Given the description of an element on the screen output the (x, y) to click on. 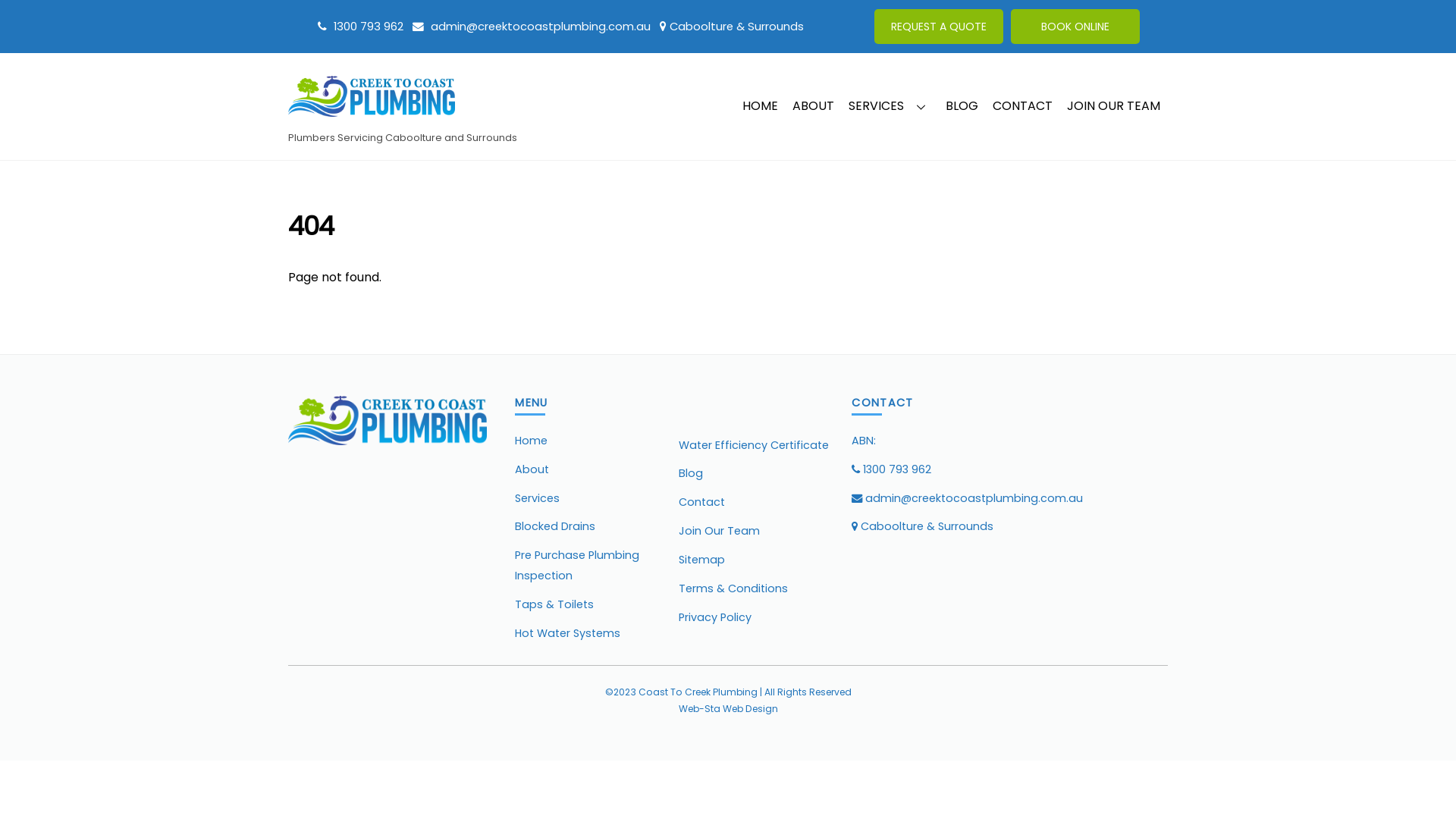
SERVICES Element type: text (889, 106)
admin@creektocoastplumbing.com.au Element type: text (531, 26)
Creek to Coast Plumbing Element type: hover (371, 95)
Blocked Drains Element type: text (554, 525)
Join Our Team Element type: text (718, 530)
Creek to Coast Plumbing Element type: hover (371, 109)
BLOG Element type: text (961, 106)
Creek to Coast Plumbing Element type: hover (387, 420)
Services Element type: text (536, 497)
Privacy Policy Element type: text (714, 616)
REQUEST A QUOTE Element type: text (938, 26)
ABOUT Element type: text (813, 106)
CONTACT Element type: text (1022, 106)
Hot Water Systems Element type: text (567, 632)
Web-Sta Web Design Element type: text (727, 708)
Creek to Coast Plumbing Element type: hover (387, 439)
1300 793 962 Element type: text (891, 468)
About Element type: text (531, 468)
1300 793 962 Element type: text (360, 26)
Home Element type: text (530, 440)
Contact Element type: text (701, 501)
Blog Element type: text (690, 472)
admin@creektocoastplumbing.com.au Element type: text (966, 497)
Water Efficiency Certificate Element type: text (753, 444)
Sitemap Element type: text (701, 559)
HOME Element type: text (759, 106)
Terms & Conditions Element type: text (732, 588)
Pre Purchase Plumbing Inspection Element type: text (576, 564)
JOIN OUR TEAM Element type: text (1113, 106)
BOOK ONLINE Element type: text (1075, 26)
Taps & Toilets Element type: text (553, 603)
